Given the description of an element on the screen output the (x, y) to click on. 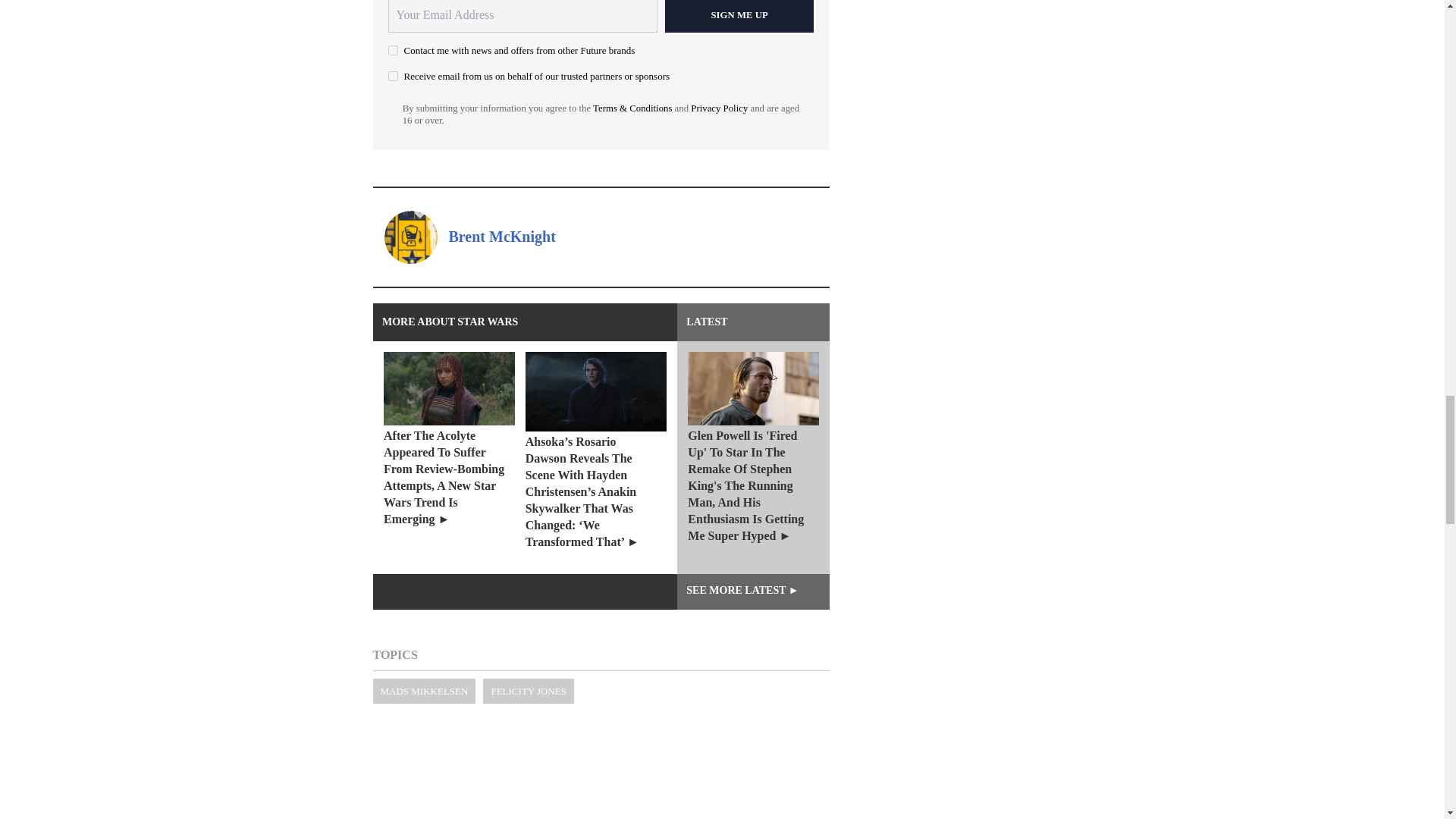
Sign me up (739, 16)
on (392, 50)
on (392, 76)
